Given the description of an element on the screen output the (x, y) to click on. 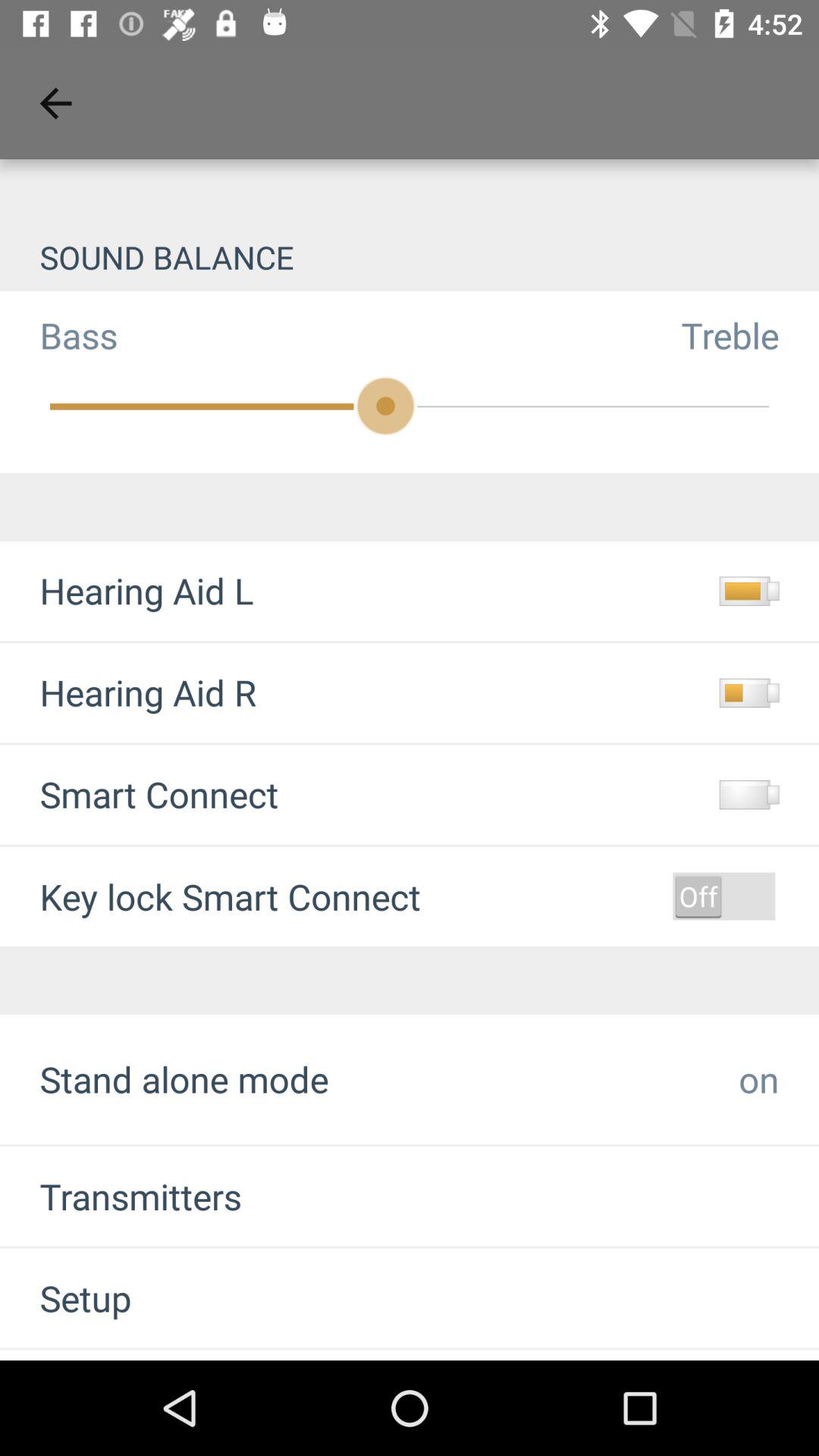
open icon next to on icon (183, 1078)
